Given the description of an element on the screen output the (x, y) to click on. 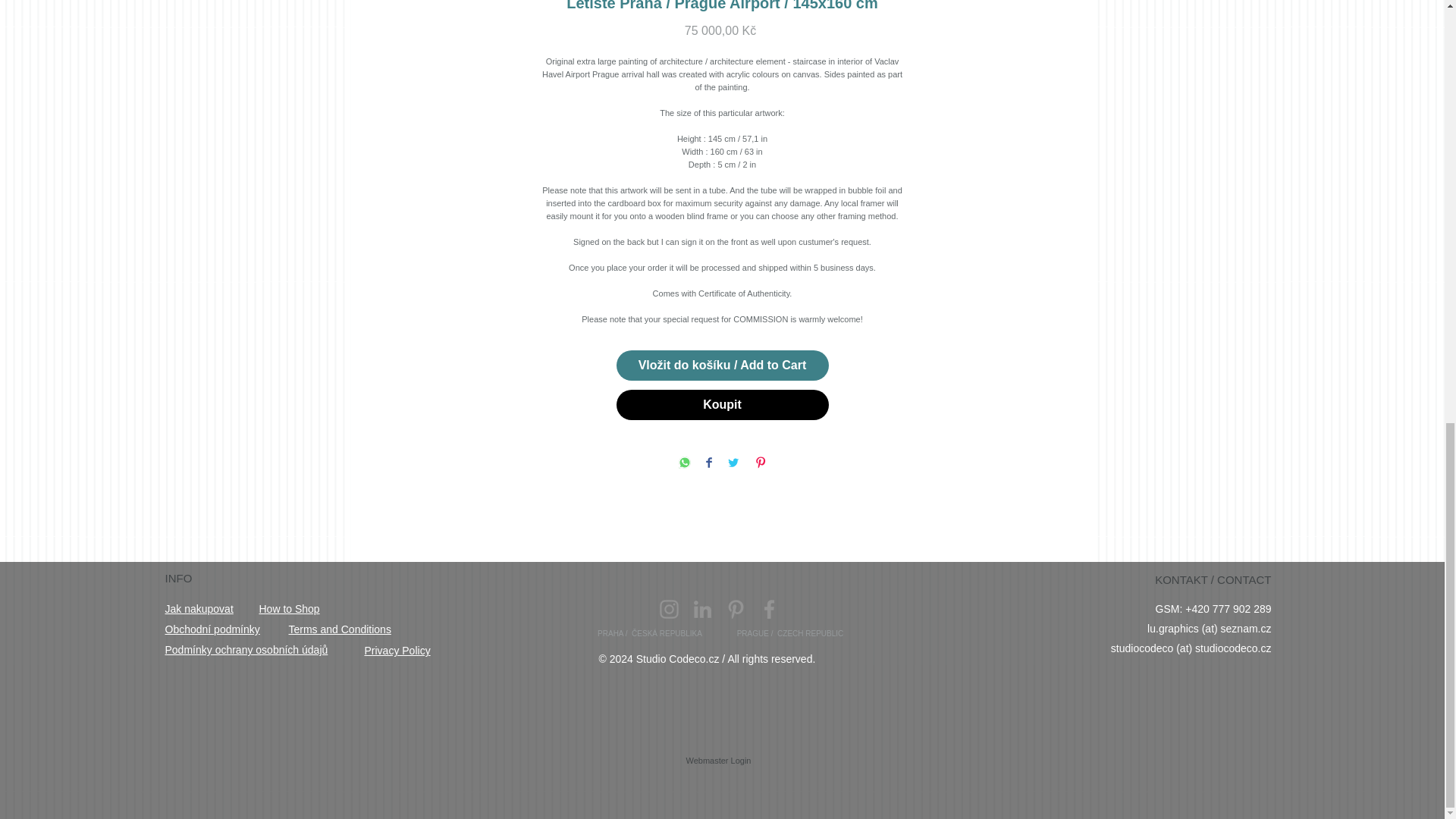
Jak nakupovat (198, 608)
Terms and Conditions (339, 629)
Koupit (721, 404)
Privacy Policy (396, 650)
Webmaster Login (718, 760)
How to Shop (289, 608)
